Given the description of an element on the screen output the (x, y) to click on. 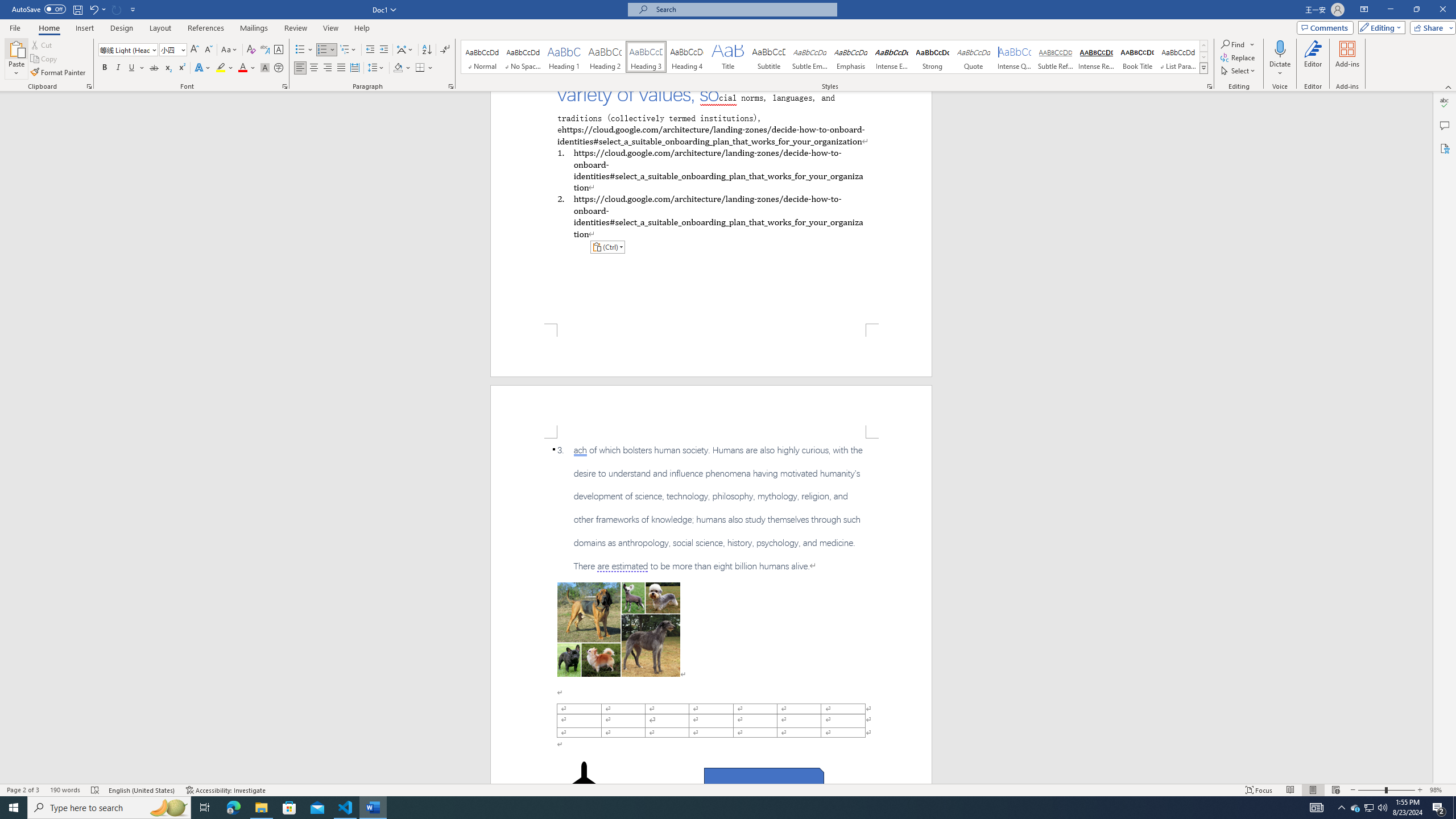
Subscript (167, 67)
Subtitle (768, 56)
Copy (45, 58)
Microsoft search (742, 9)
Footer -Section 1- (710, 349)
Heading 2 (605, 56)
Language English (United States) (141, 790)
Class: MsoCommandBar (728, 789)
Font... (285, 85)
